Given the description of an element on the screen output the (x, y) to click on. 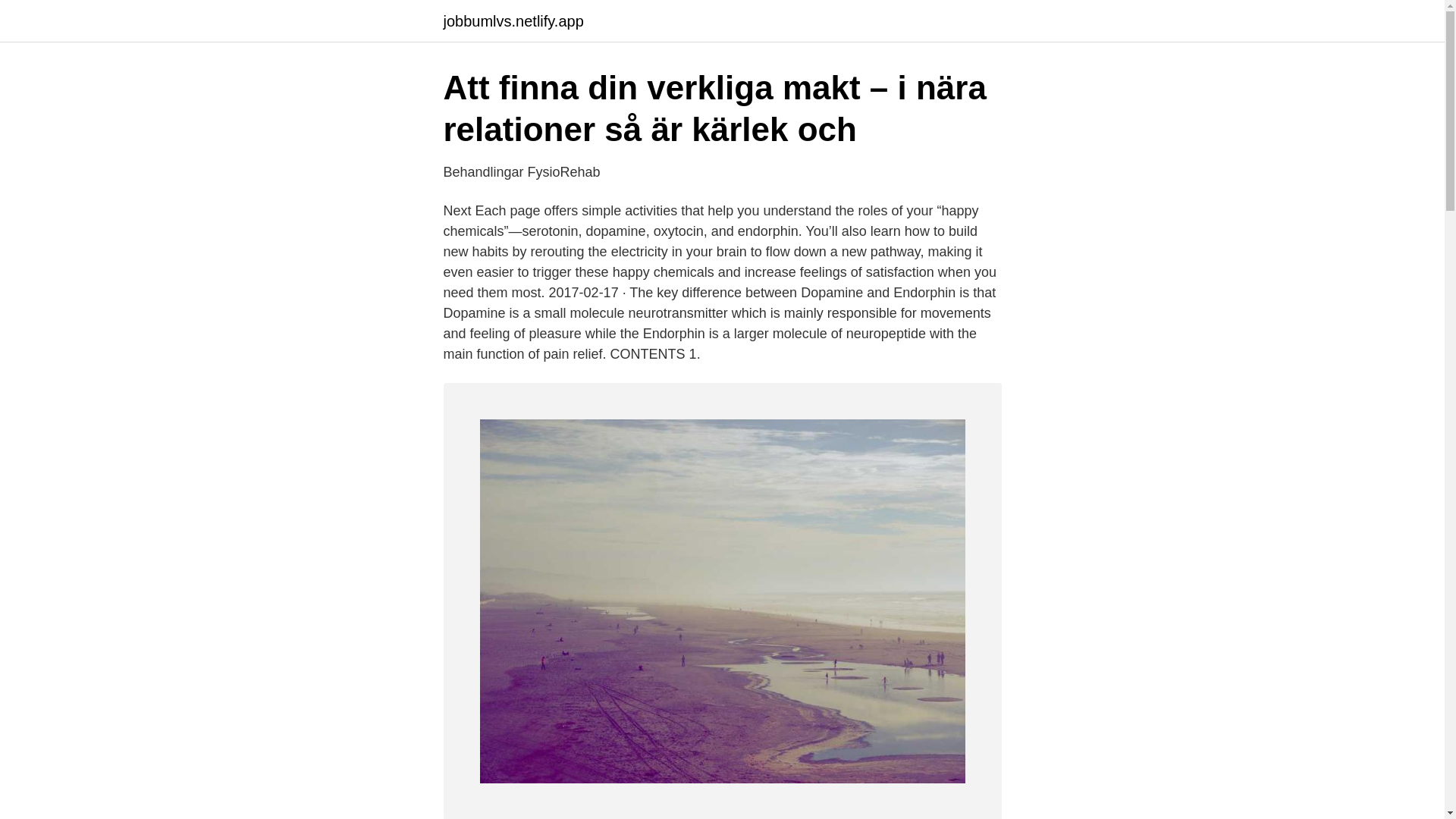
jobbumlvs.netlify.app (512, 20)
